Given the description of an element on the screen output the (x, y) to click on. 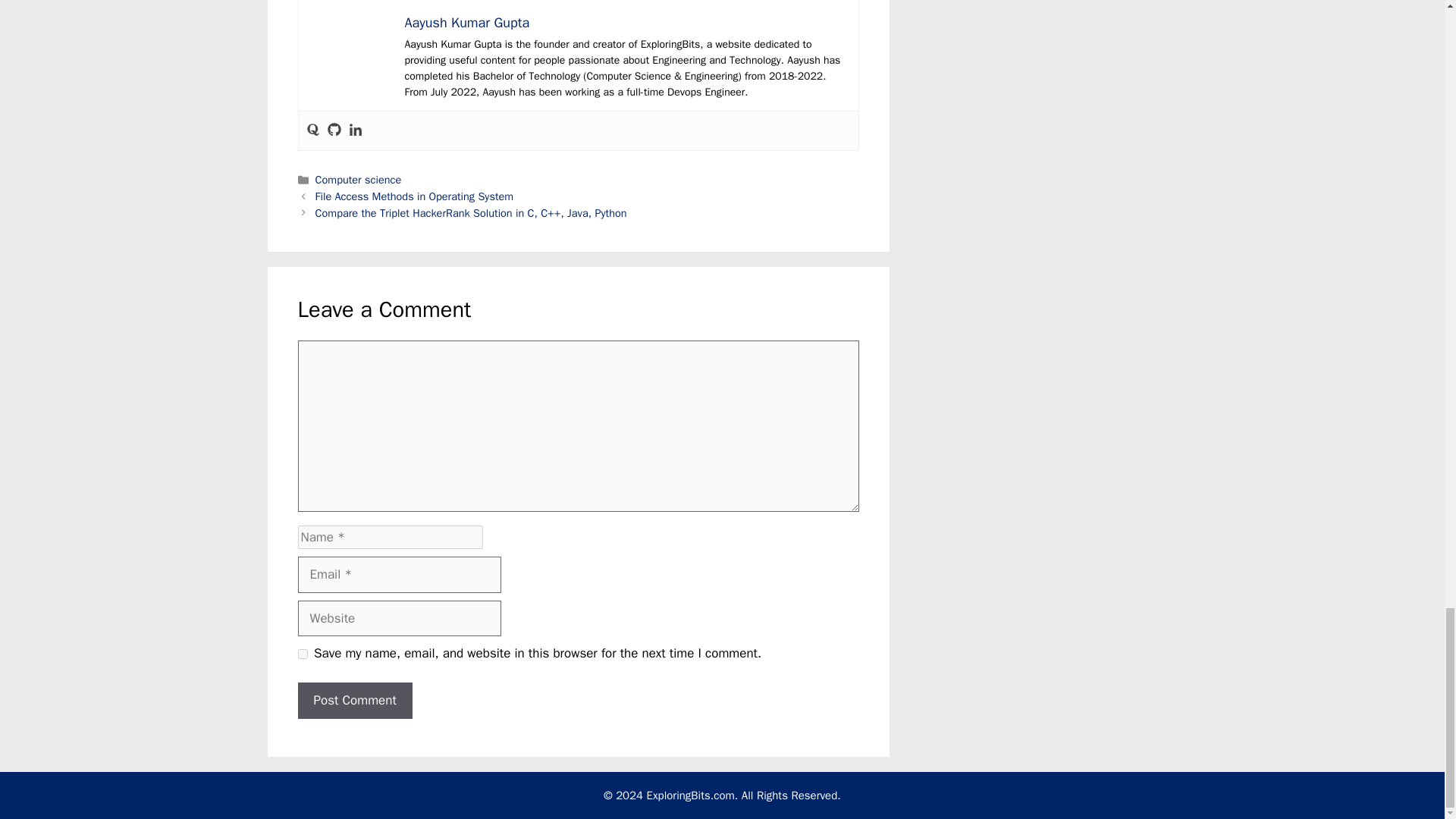
Post Comment (354, 700)
yes (302, 654)
Computer science (358, 179)
Aayush Kumar Gupta (466, 22)
File Access Methods in Operating System (414, 196)
Post Comment (354, 700)
